Given the description of an element on the screen output the (x, y) to click on. 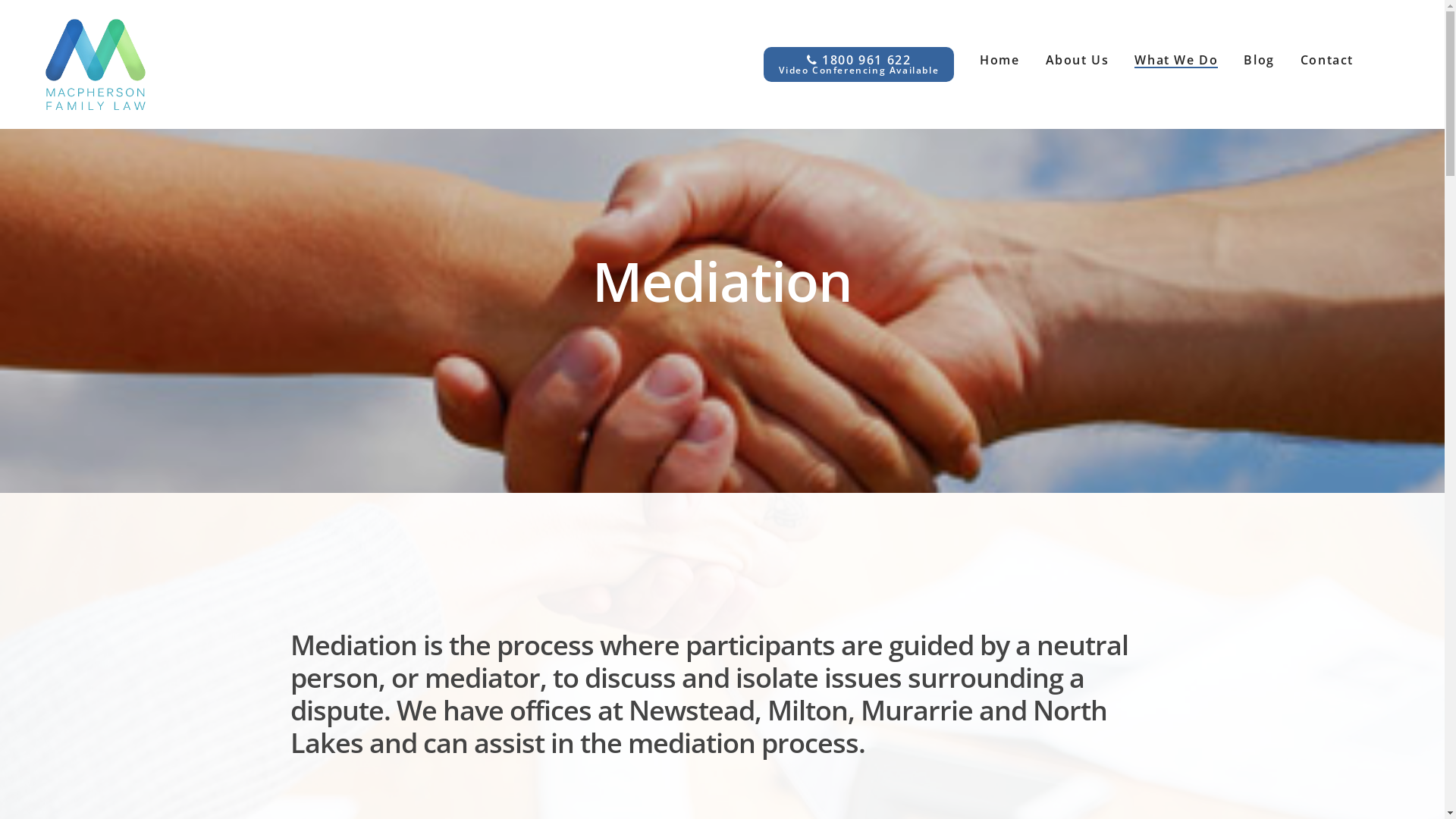
Blog Element type: text (1258, 59)
1800 961 622
Video Conferencing Available Element type: text (858, 64)
Home Element type: text (999, 59)
What We Do Element type: text (1175, 59)
About Us Element type: text (1077, 59)
Contact Element type: text (1326, 59)
